Given the description of an element on the screen output the (x, y) to click on. 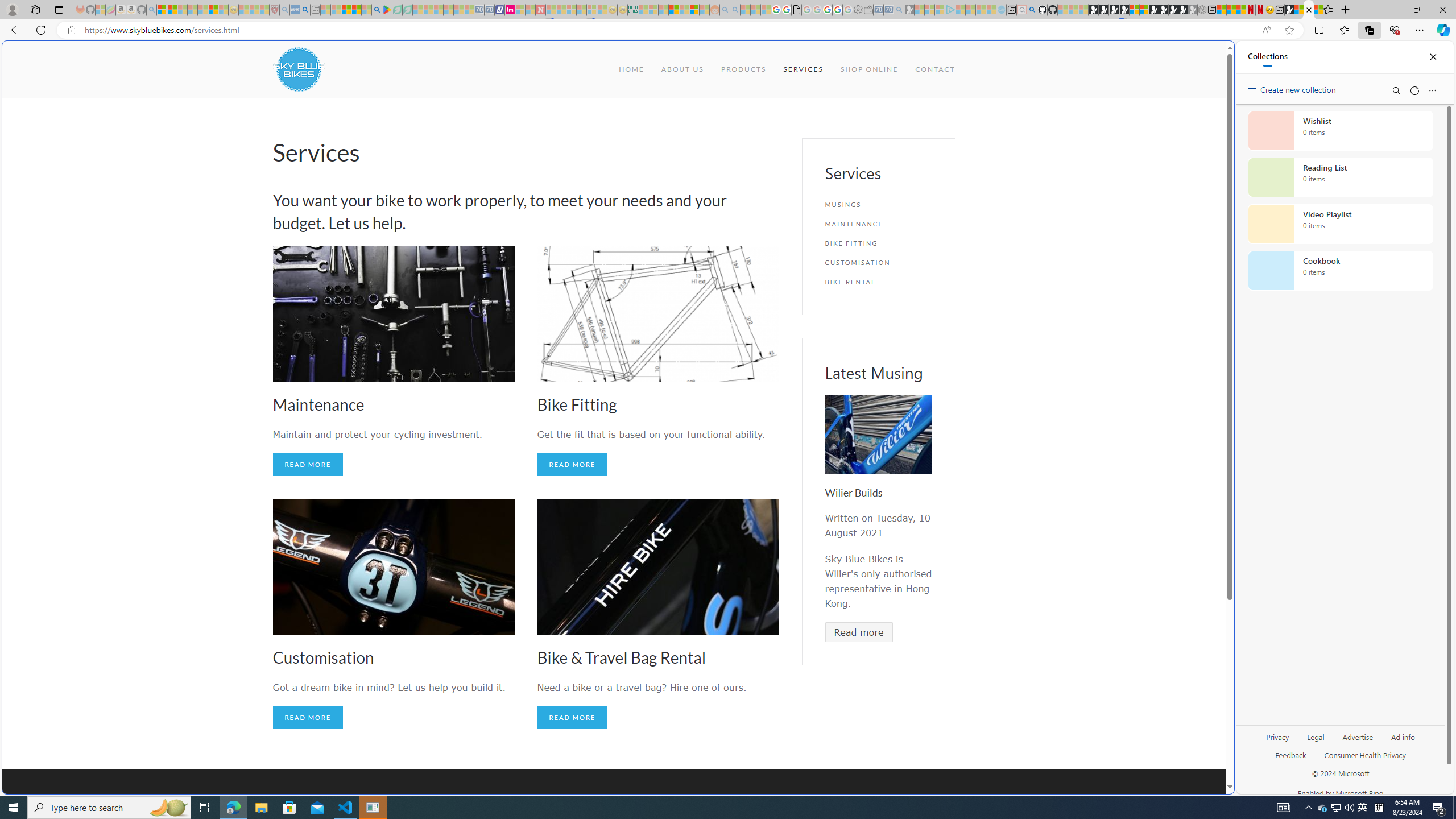
HOME (631, 68)
